Given the description of an element on the screen output the (x, y) to click on. 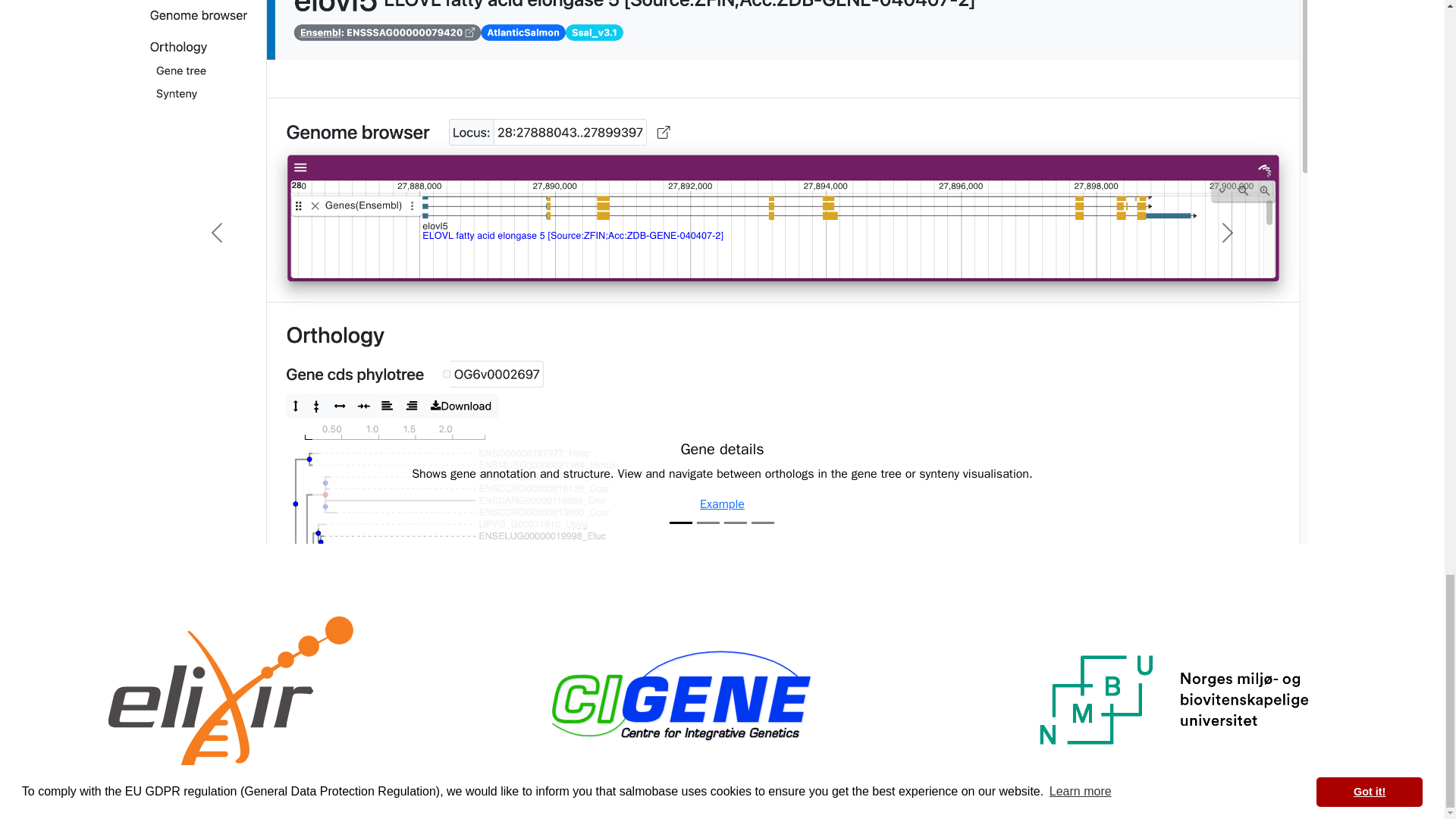
Example (722, 503)
